Given the description of an element on the screen output the (x, y) to click on. 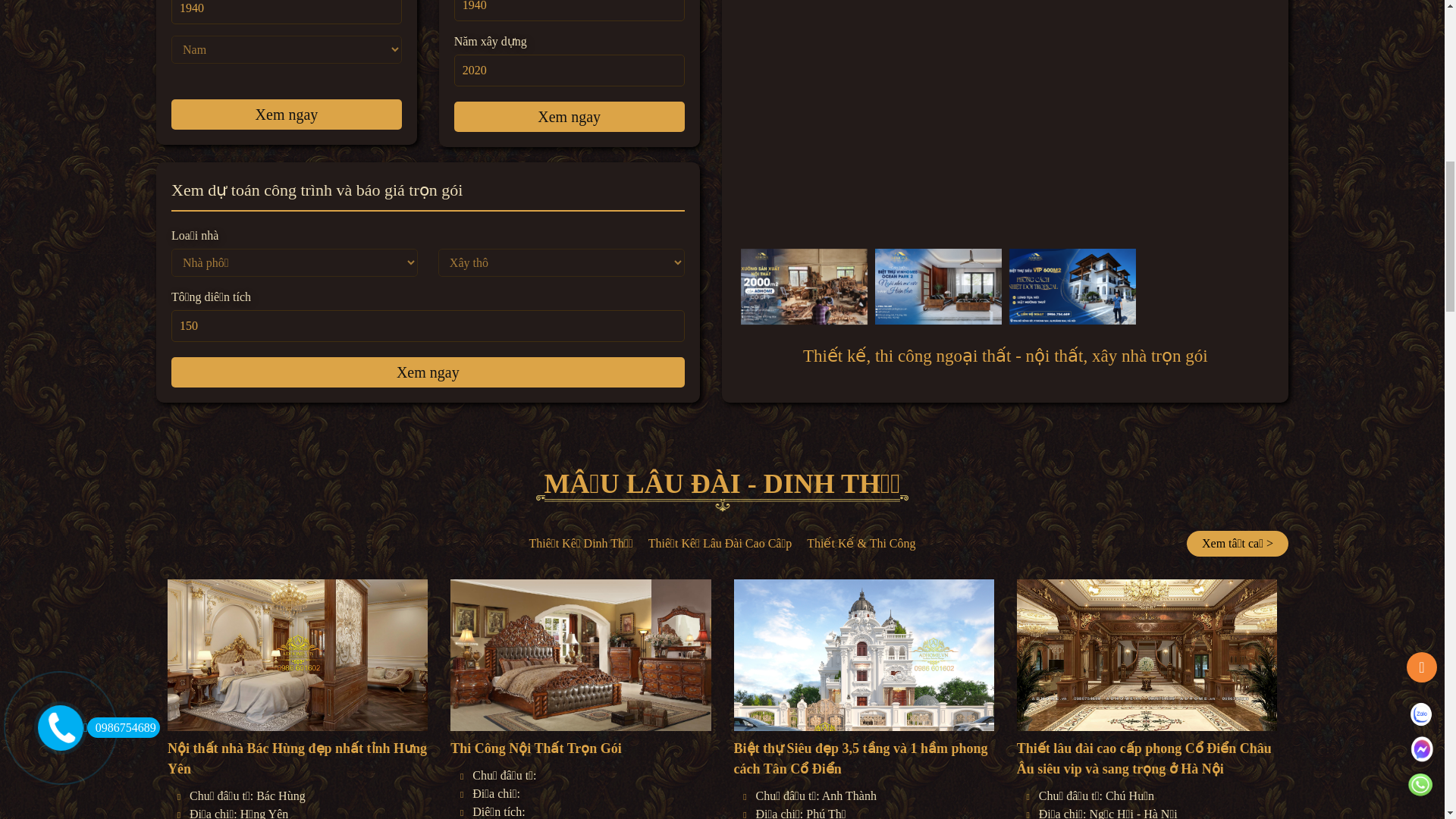
YouTube video player (468, 113)
YouTube video player (1004, 113)
